Given the description of an element on the screen output the (x, y) to click on. 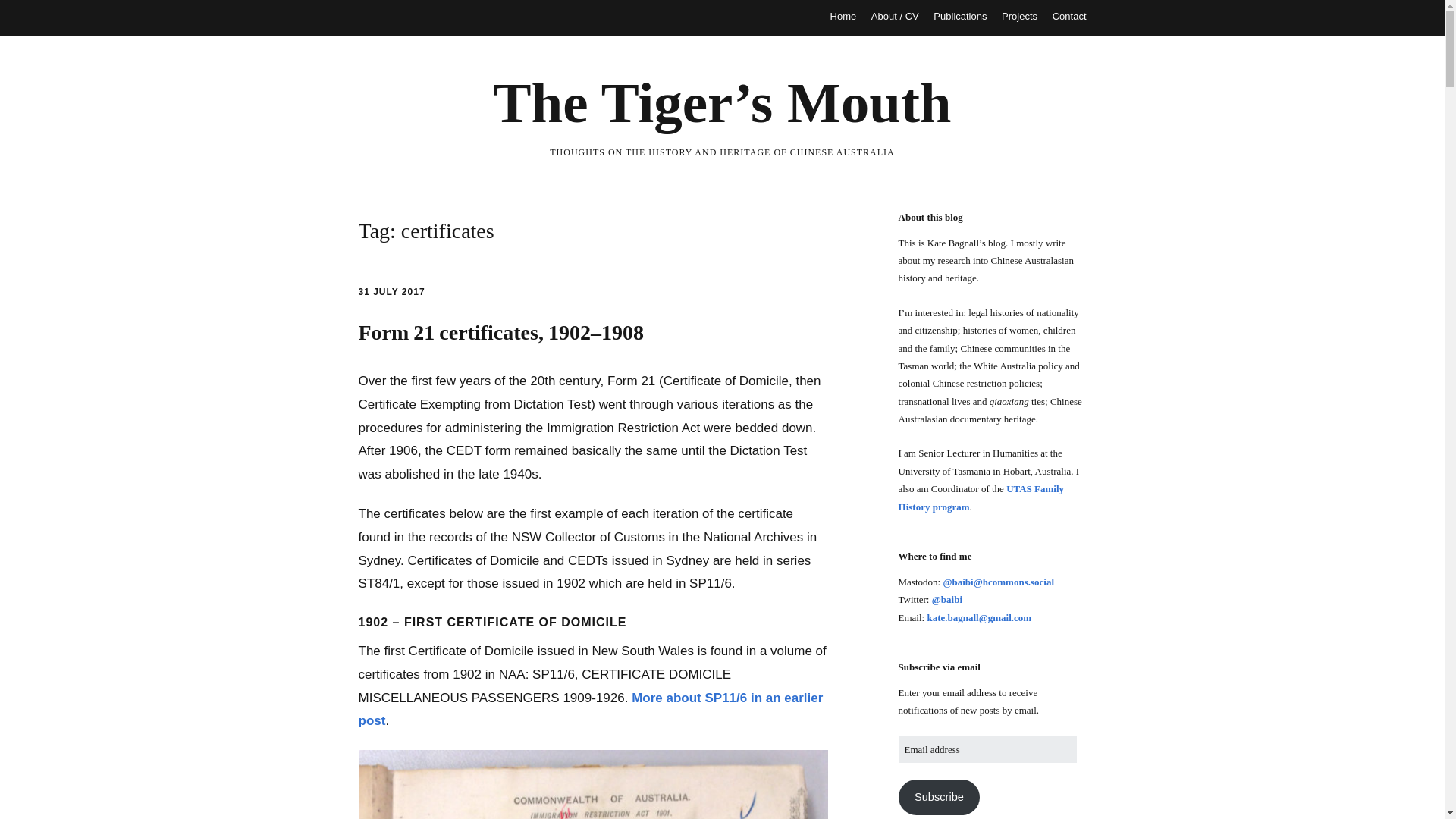
Contact (1069, 16)
31 JULY 2017 (391, 291)
Home (843, 16)
Projects (1018, 16)
Publications (960, 16)
